Given the description of an element on the screen output the (x, y) to click on. 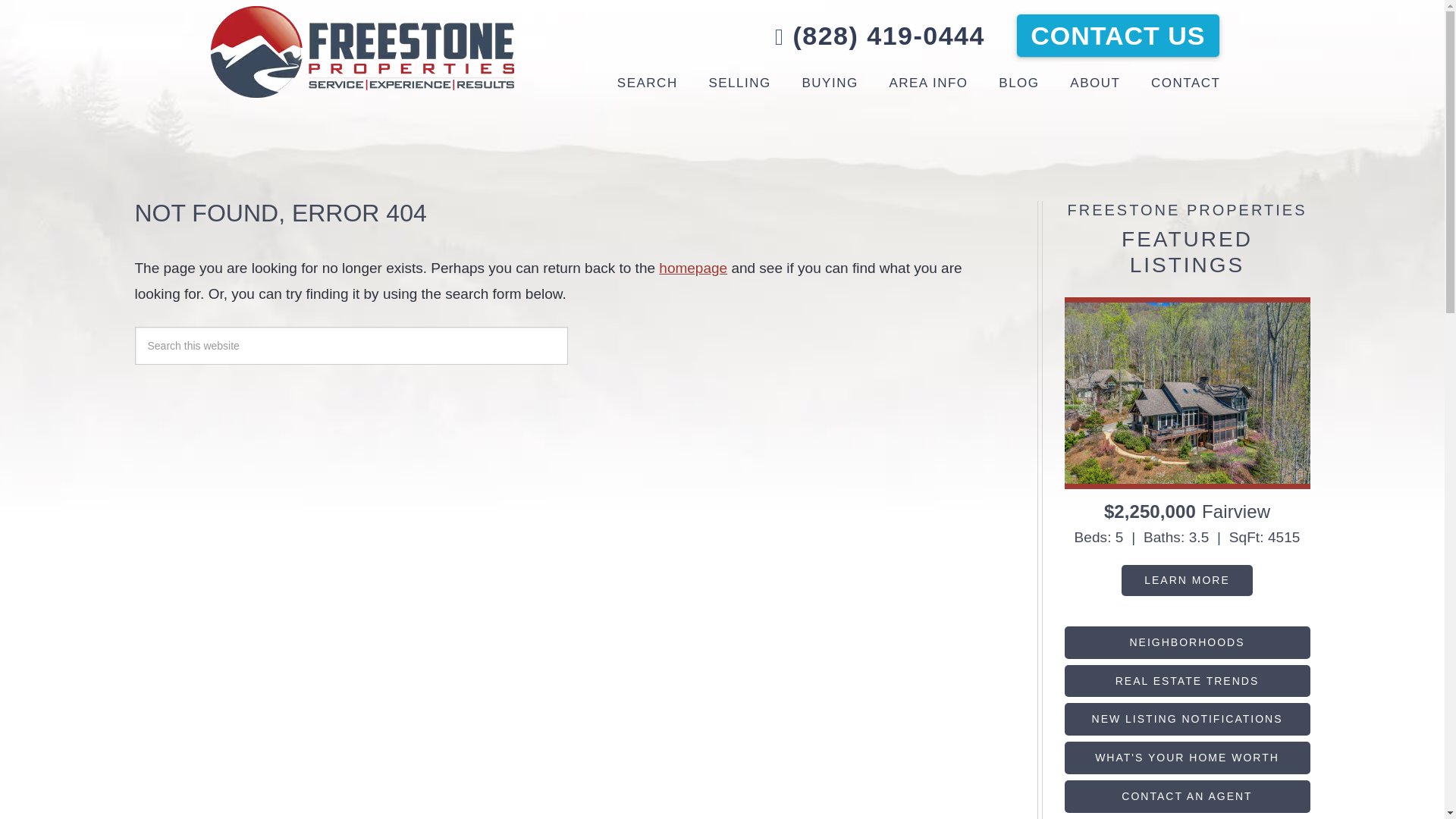
BUYING (829, 83)
CONTACT (1185, 83)
AREA INFO (928, 83)
BLOG (1018, 83)
SEARCH (647, 83)
CONTACT US (1117, 35)
SELLING (738, 83)
ABOUT (1094, 83)
